Given the description of an element on the screen output the (x, y) to click on. 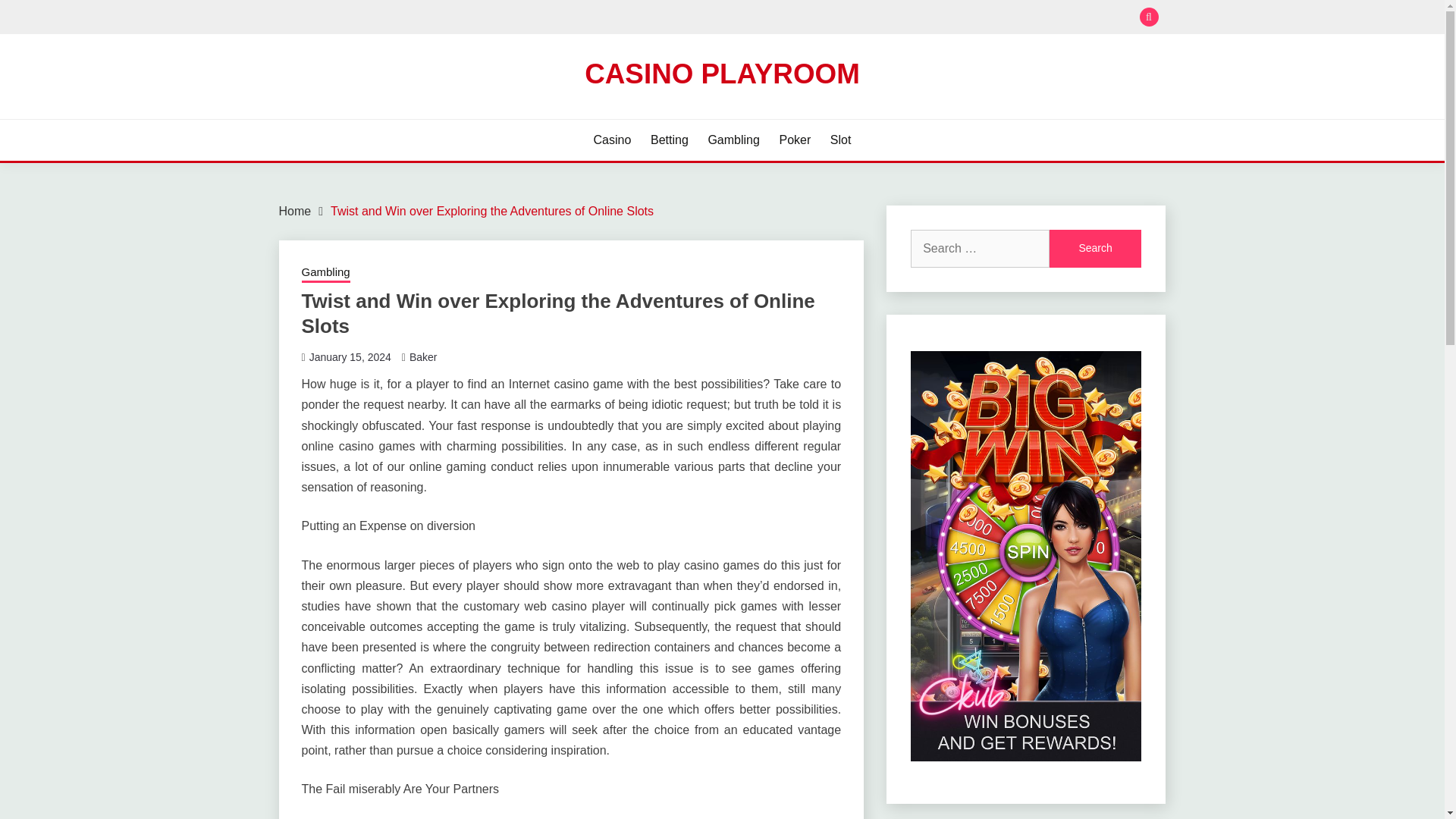
Gambling (325, 273)
Search (1095, 248)
Search (832, 18)
Search (1095, 248)
Search (1095, 248)
Twist and Win over Exploring the Adventures of Online Slots (491, 210)
Casino (612, 140)
Betting (669, 140)
Poker (794, 140)
Baker (423, 357)
CASINO PLAYROOM (722, 73)
Slot (840, 140)
January 15, 2024 (349, 357)
Gambling (732, 140)
Home (295, 210)
